Given the description of an element on the screen output the (x, y) to click on. 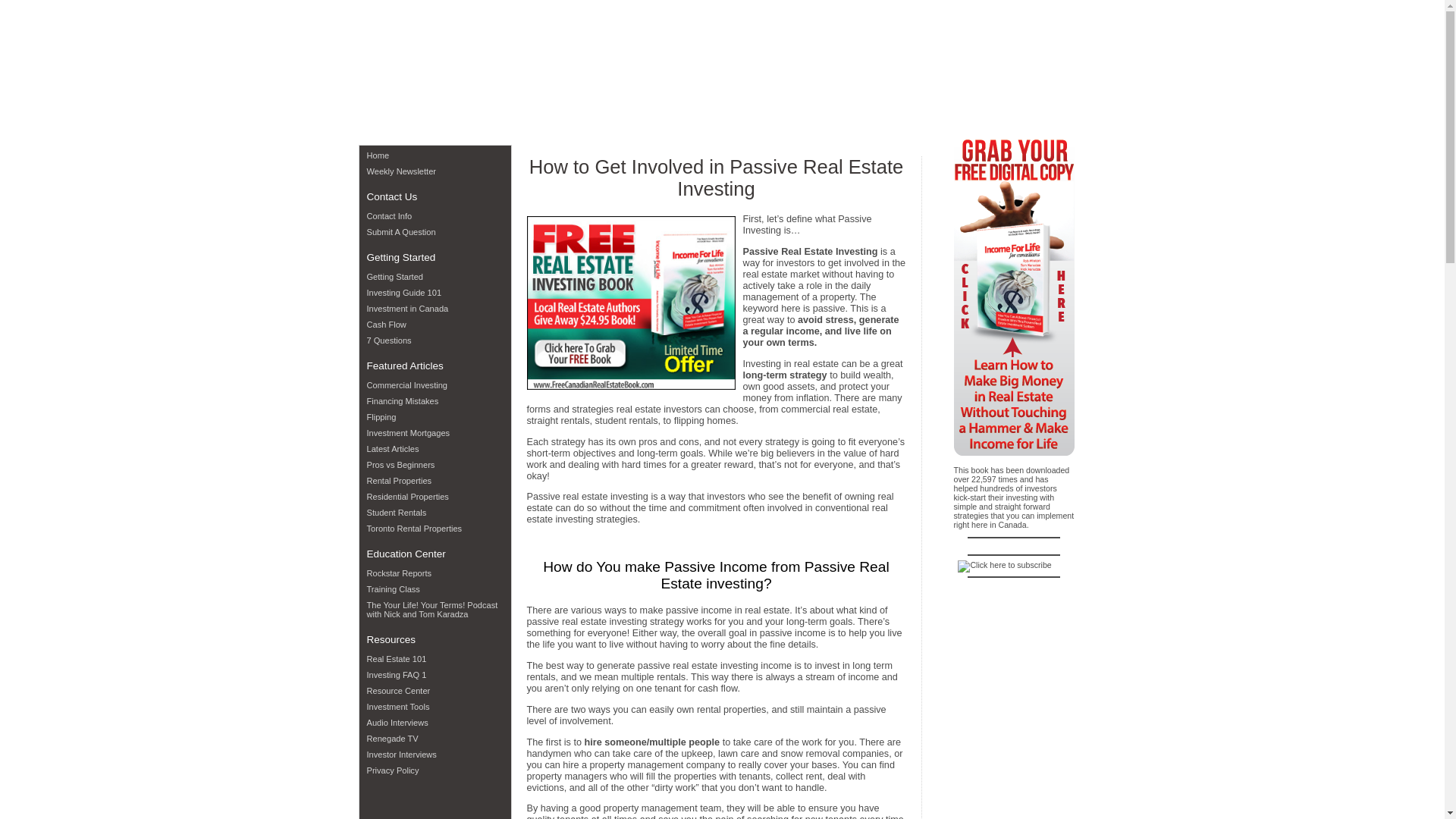
Investing Guide 101 (435, 292)
Rockstar Reports (435, 572)
Training Class (435, 589)
Latest Articles (435, 448)
Residential Properties (435, 496)
Submit A Question (435, 232)
Commercial Investing (435, 385)
Audio Interviews (435, 722)
Rental Properties (435, 480)
Real Estate 101 (435, 658)
